Given the description of an element on the screen output the (x, y) to click on. 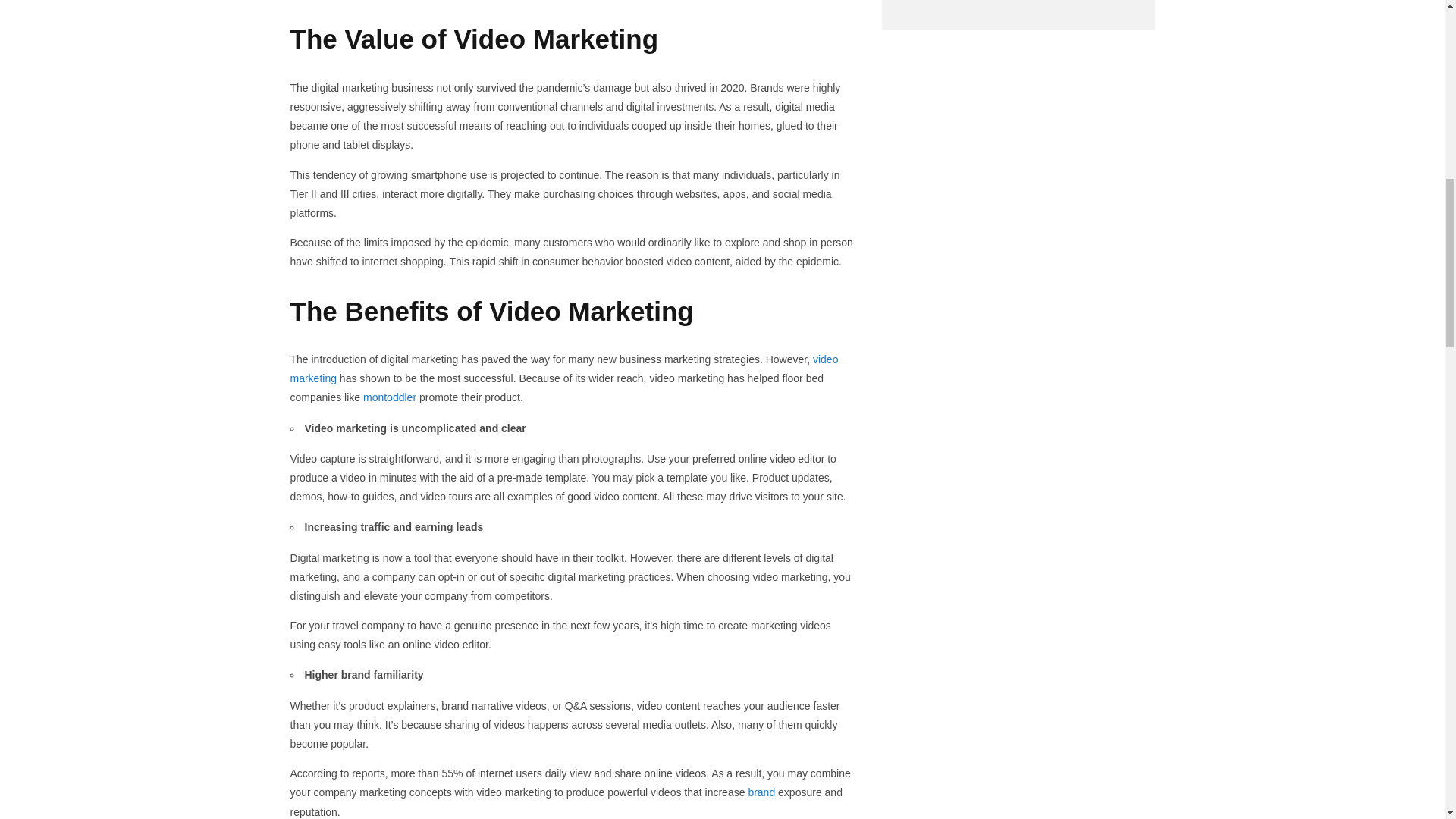
video marketing (563, 368)
brand (761, 792)
montoddler (389, 397)
